Given the description of an element on the screen output the (x, y) to click on. 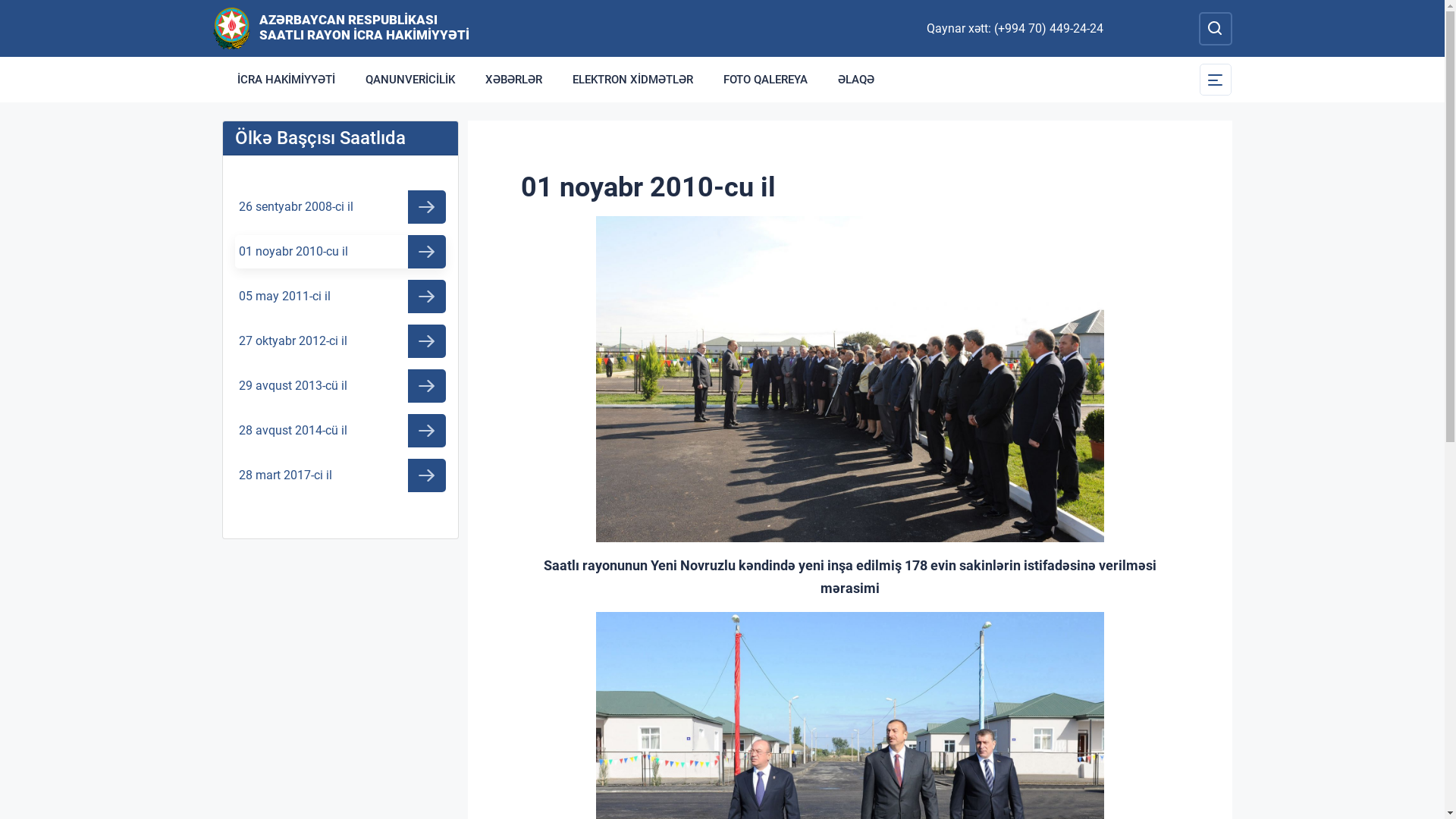
01 noyabr 2010-cu il Element type: text (340, 251)
QANUNVERICILIK Element type: text (410, 79)
05 may 2011-ci il Element type: text (340, 296)
27 oktyabr 2012-ci il Element type: text (340, 340)
26 sentyabr 2008-ci il Element type: text (340, 206)
FOTO QALEREYA Element type: text (765, 79)
28 mart 2017-ci il Element type: text (340, 475)
